Given the description of an element on the screen output the (x, y) to click on. 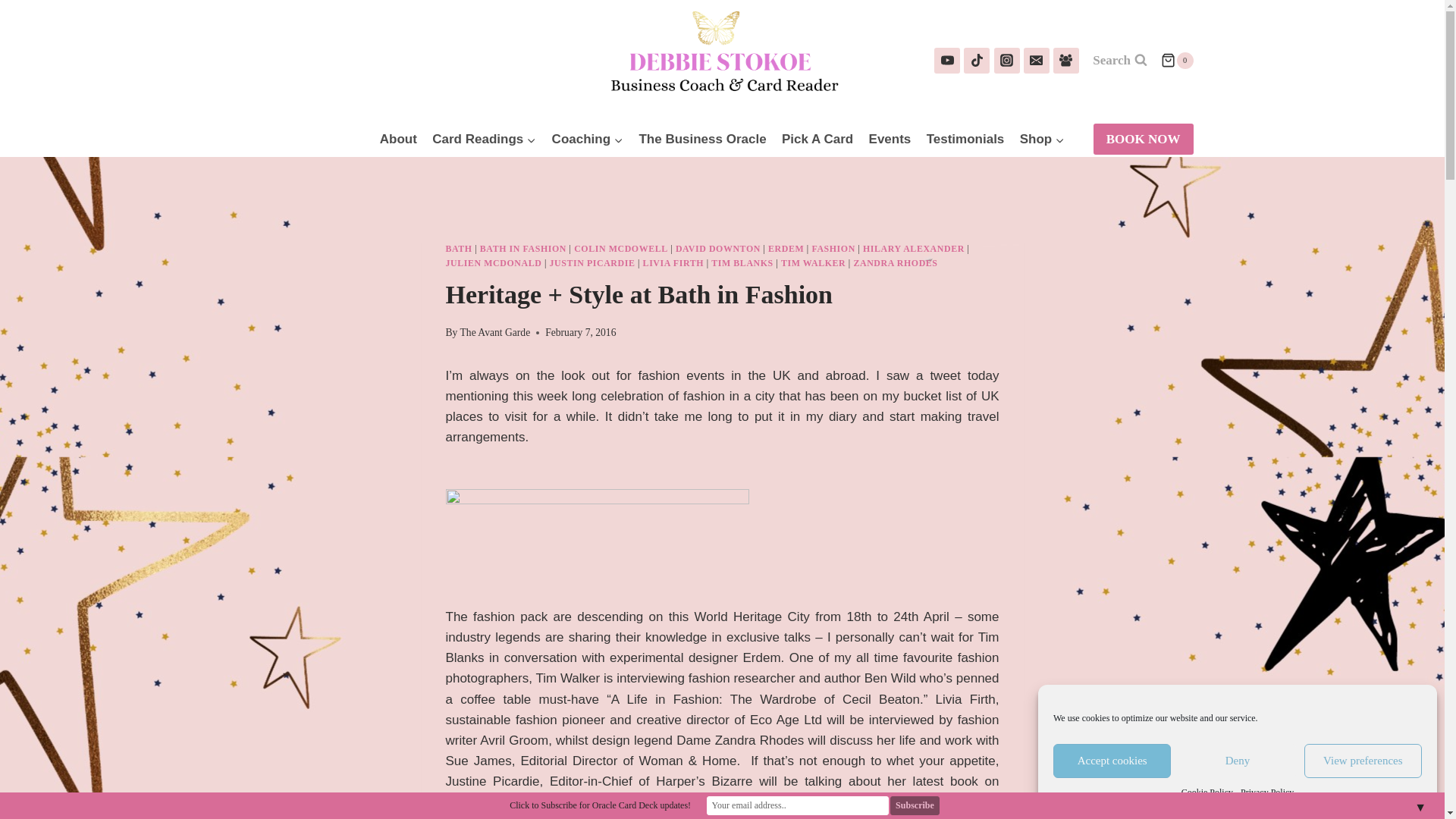
About (398, 139)
View preferences (1363, 760)
The Business Oracle (702, 139)
Card Readings (484, 139)
Cookie Policy (1206, 792)
Accept cookies (1111, 760)
Subscribe (914, 805)
Privacy Policy (1267, 792)
Events (889, 139)
Search (1120, 60)
